Given the description of an element on the screen output the (x, y) to click on. 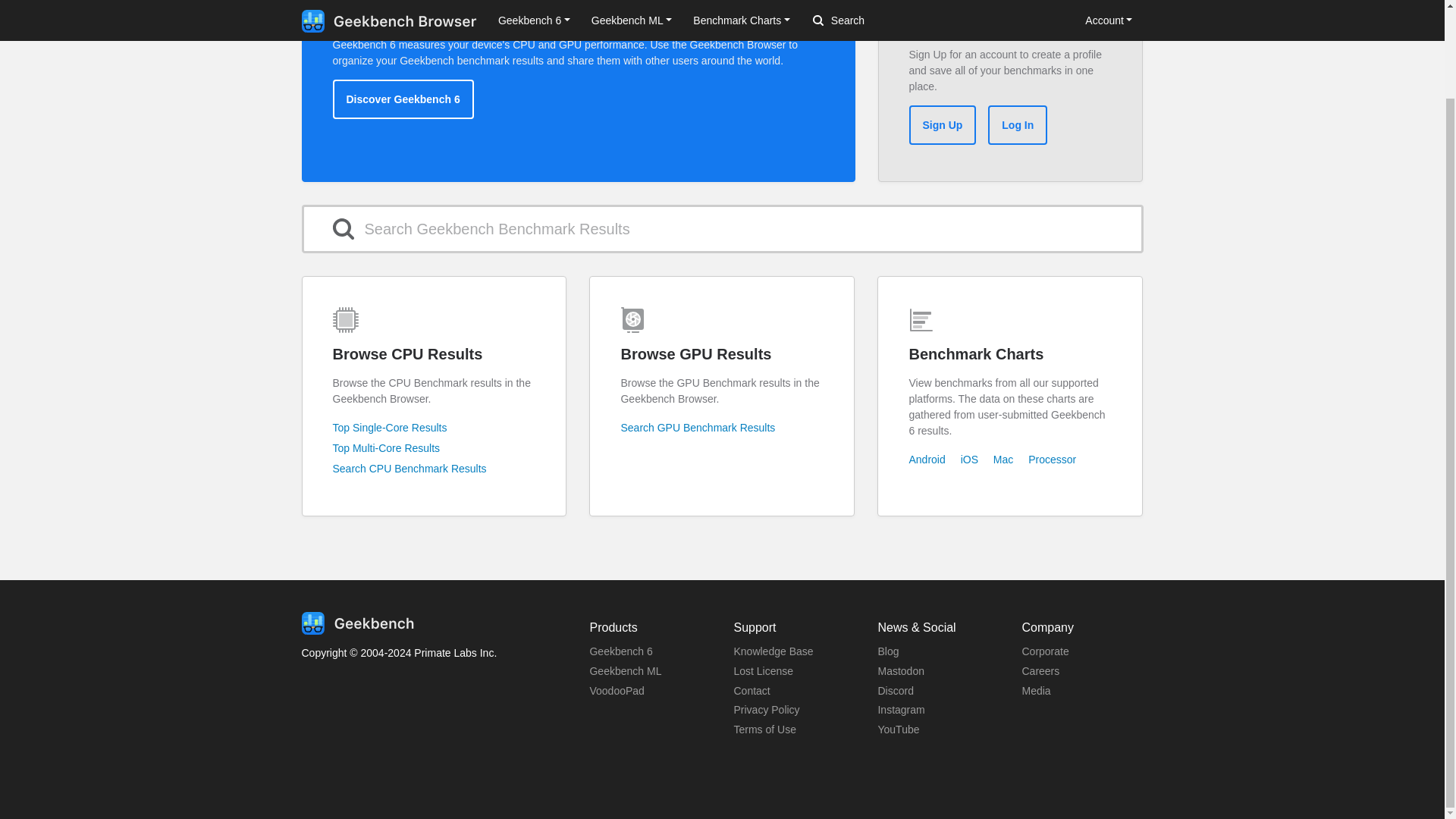
Knowledge Base (772, 651)
Top Single-Core Results (388, 427)
Terms of Use (763, 729)
Processor (1051, 459)
VoodooPad (616, 690)
Geekbench ML (625, 671)
Lost License (763, 671)
Search GPU Benchmark Results (697, 427)
Contact (751, 690)
iOS (969, 459)
Sign Up (941, 124)
Geekbench 6 (620, 651)
Discover Geekbench 6 (402, 98)
Top Multi-Core Results (385, 448)
Log In (1017, 124)
